Given the description of an element on the screen output the (x, y) to click on. 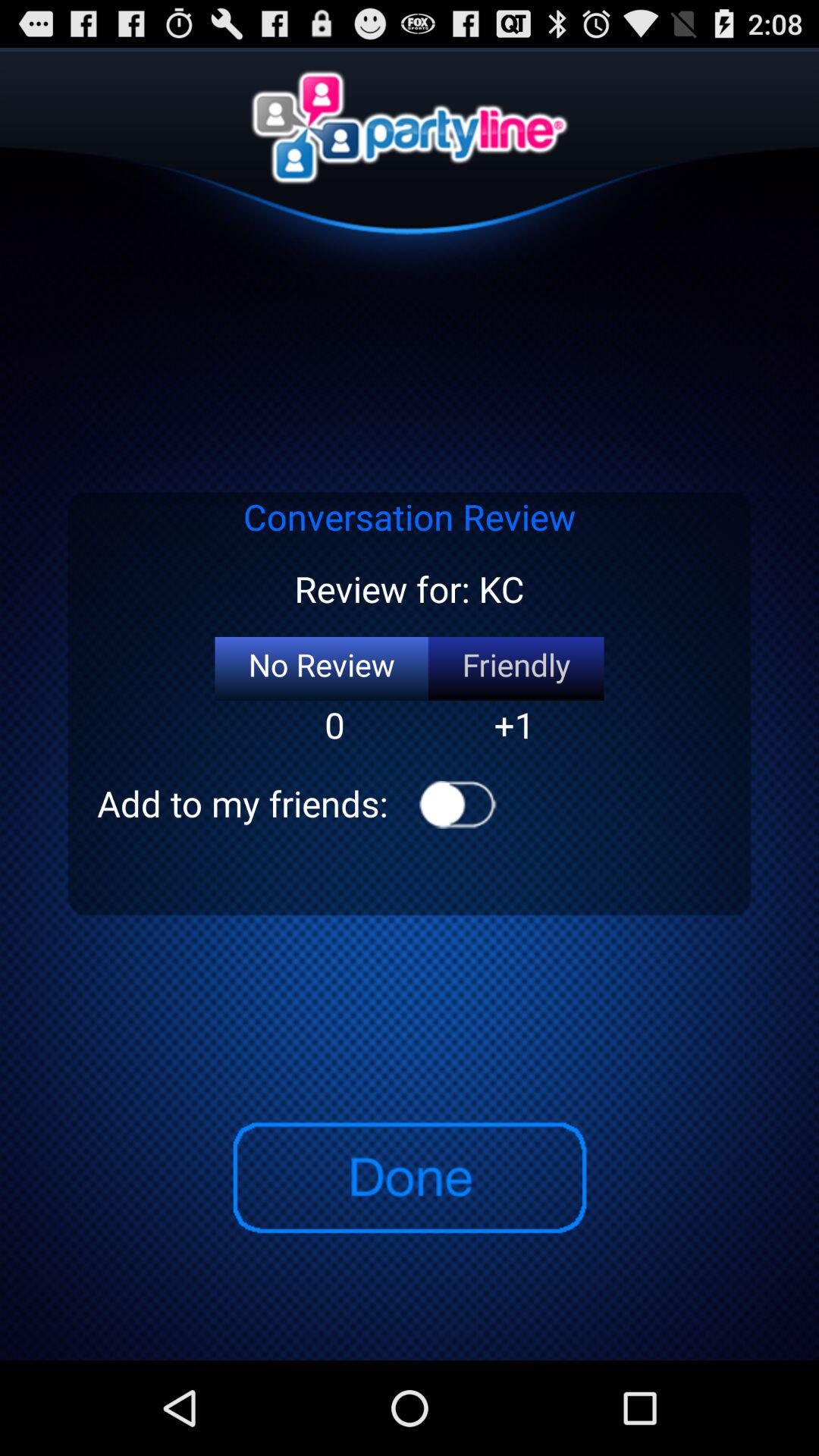
scroll until the no review icon (321, 668)
